Given the description of an element on the screen output the (x, y) to click on. 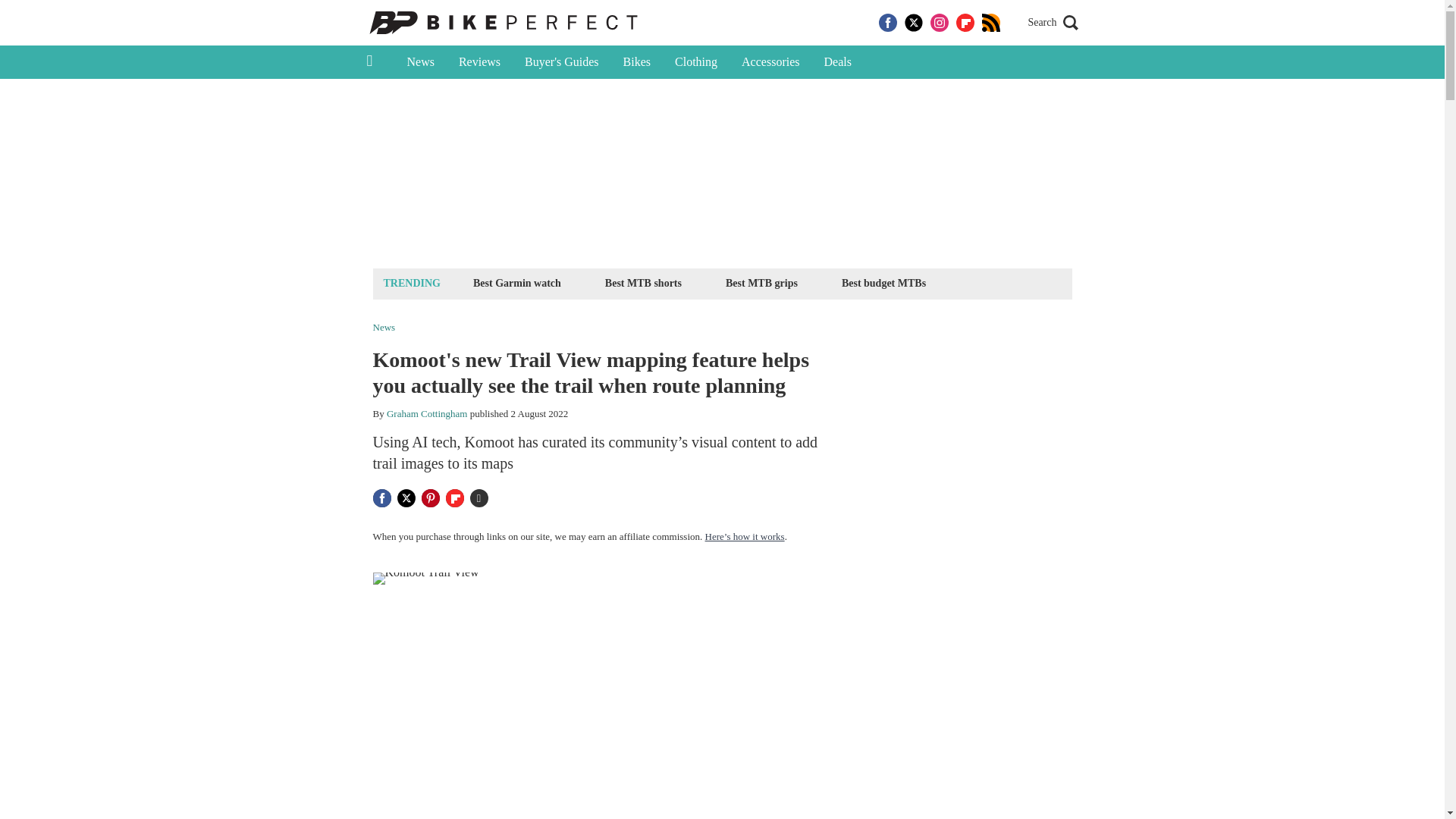
Reviews (479, 61)
Accessories (769, 61)
Best MTB grips (761, 282)
News (419, 61)
Best Garmin watch (516, 282)
Best MTB shorts (643, 282)
Bikes (636, 61)
Graham Cottingham (427, 413)
Clothing (695, 61)
Best budget MTBs (883, 282)
Buyer's Guides (561, 61)
Deals (836, 61)
